Given the description of an element on the screen output the (x, y) to click on. 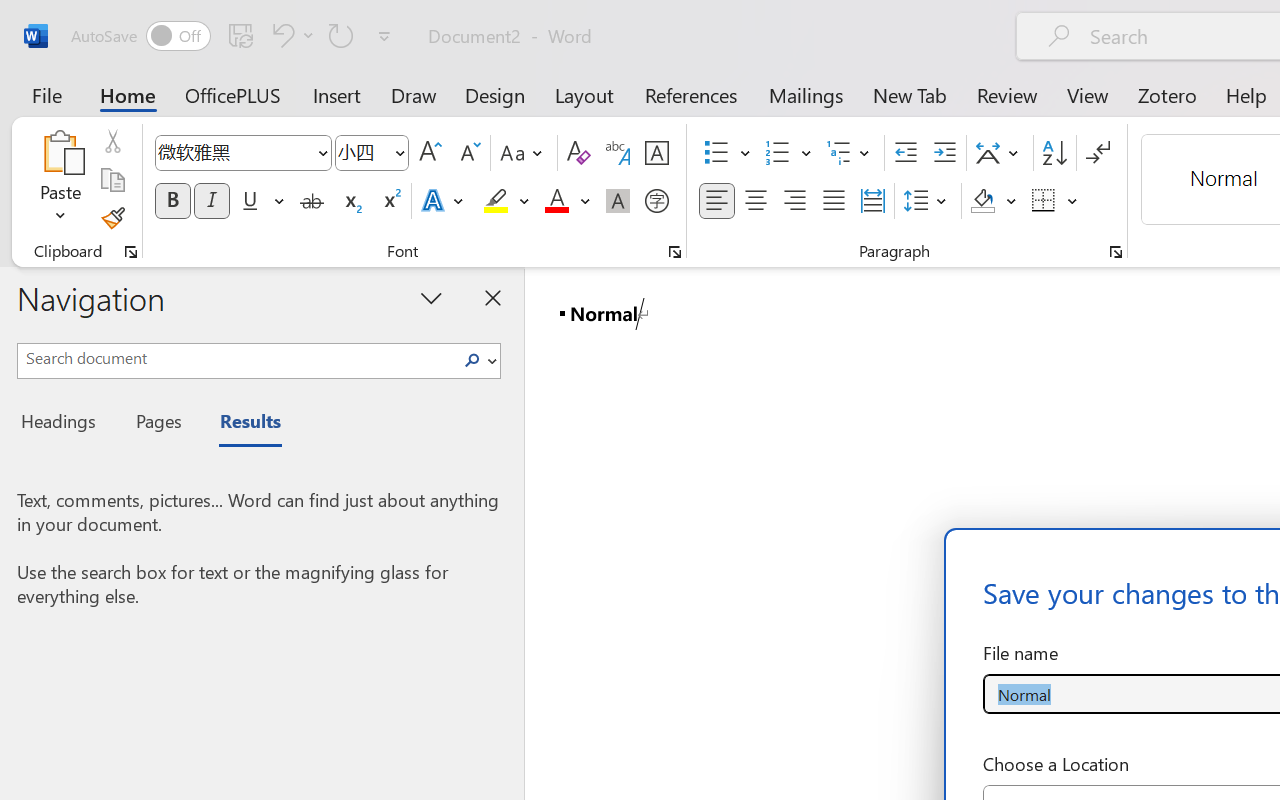
Bold (172, 201)
Review (1007, 94)
Numbering (788, 153)
Font Size (372, 153)
Borders (1055, 201)
Borders (1044, 201)
Bullets (727, 153)
Format Painter (112, 218)
Text Highlight Color Yellow (495, 201)
Character Border (656, 153)
Decrease Indent (906, 153)
AutoSave (140, 35)
Zotero (1166, 94)
Italic (212, 201)
Underline (250, 201)
